Given the description of an element on the screen output the (x, y) to click on. 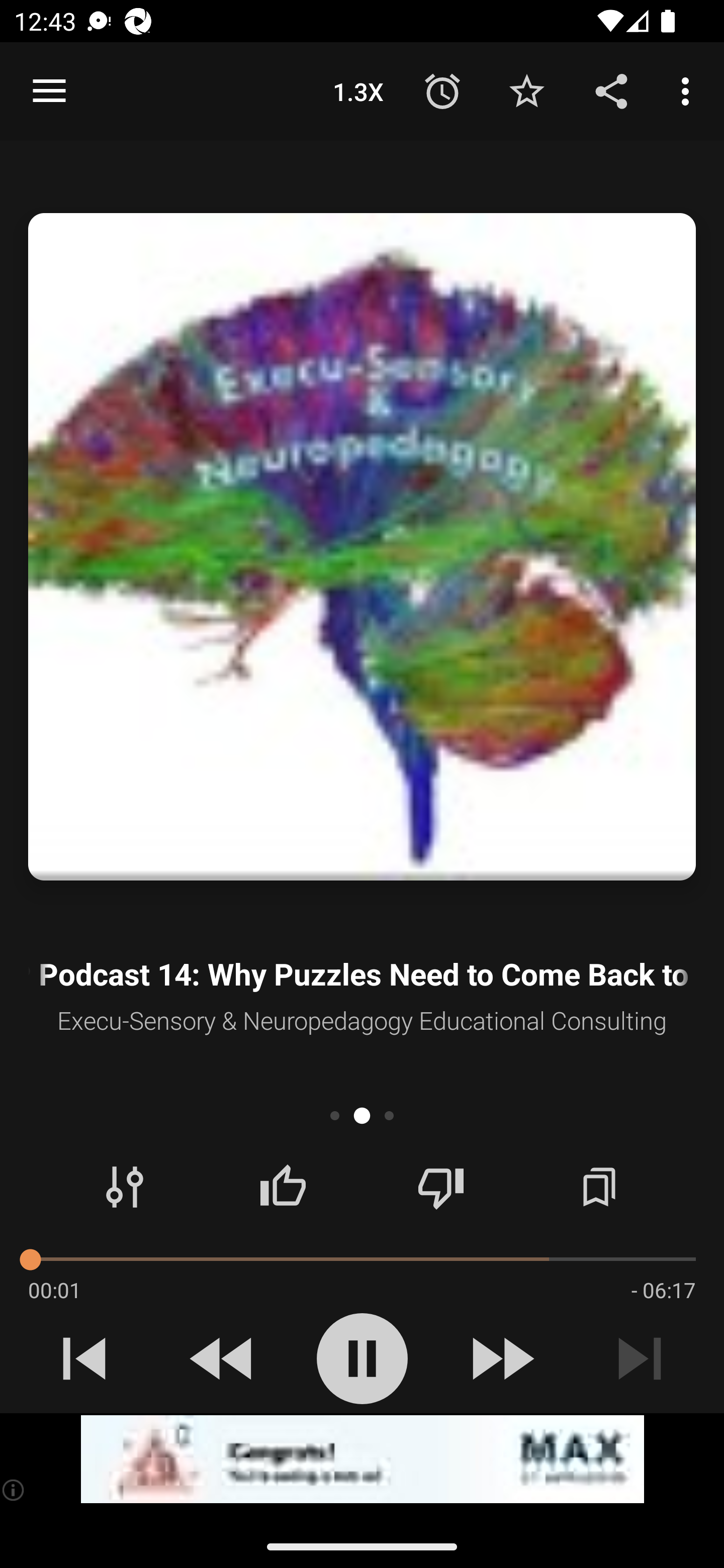
Open navigation sidebar (49, 91)
1.3X (357, 90)
Sleep Timer (442, 90)
Favorite (526, 90)
Share (611, 90)
More options (688, 90)
Episode description (361, 547)
Audio effects (124, 1186)
Thumbs up (283, 1186)
Thumbs down (440, 1186)
Chapters / Bookmarks (598, 1186)
- 06:17 (663, 1289)
Previous track (84, 1358)
Skip 15s backward (222, 1358)
Play / Pause (362, 1358)
Skip 30s forward (500, 1358)
Next track (639, 1358)
app-monetization (362, 1459)
(i) (14, 1489)
